Given the description of an element on the screen output the (x, y) to click on. 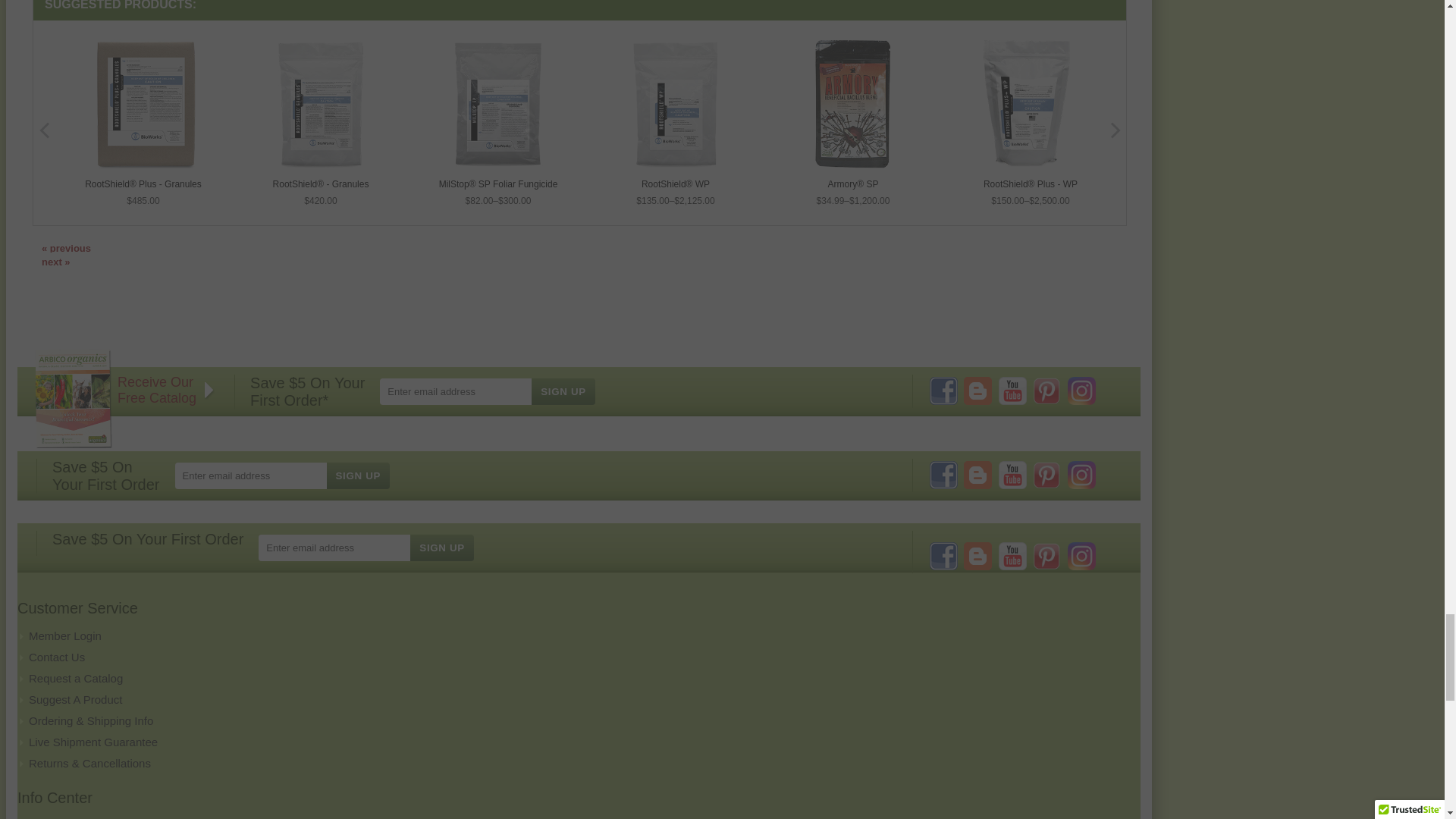
Sign Up (562, 391)
Sign Up (358, 475)
Enter email address (269, 475)
Enter email address (474, 391)
